Given the description of an element on the screen output the (x, y) to click on. 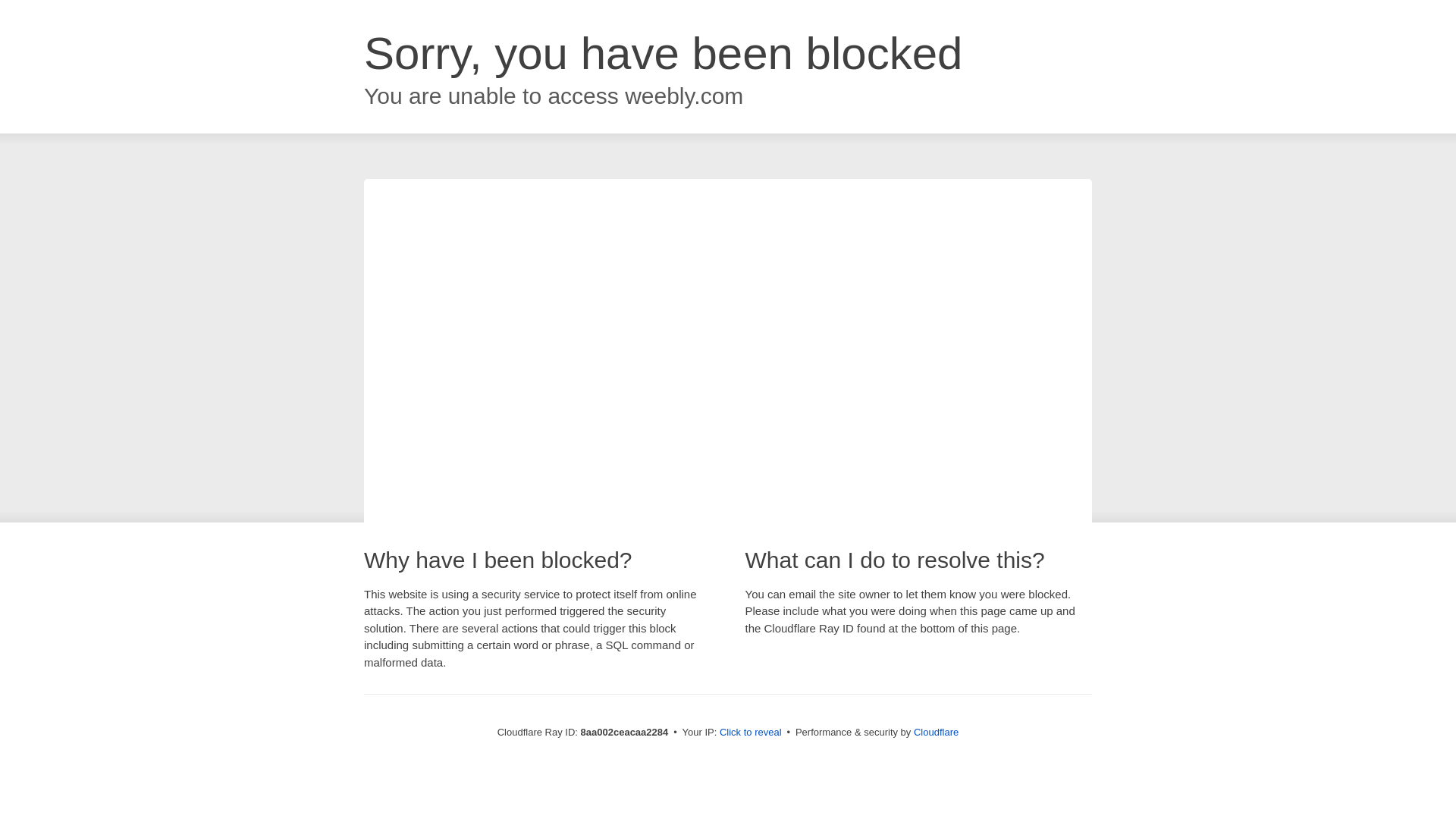
Click to reveal (750, 732)
Cloudflare (936, 731)
